Given the description of an element on the screen output the (x, y) to click on. 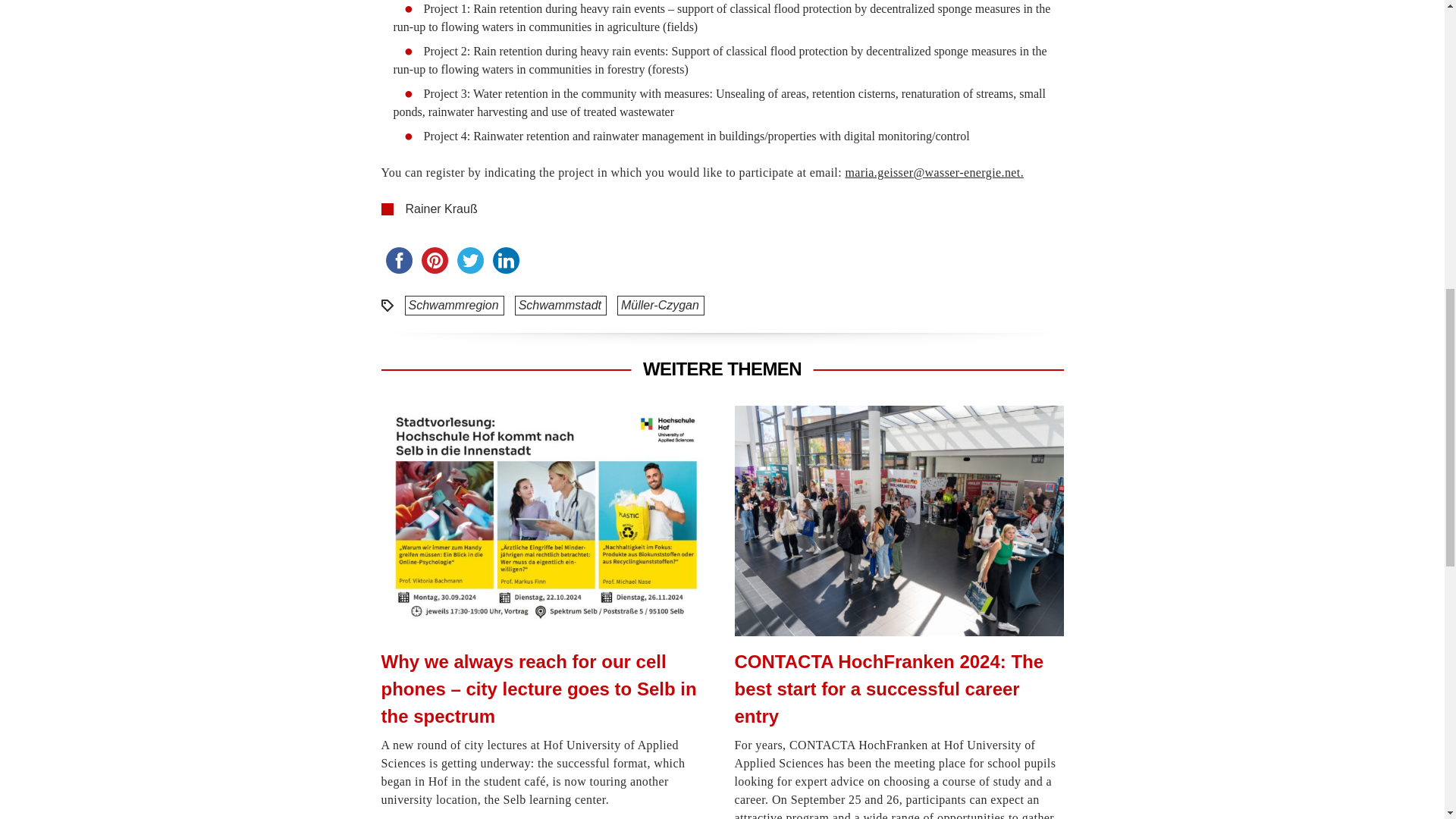
Schwammregion (453, 305)
linkedin (505, 260)
twitter (469, 260)
facebook (398, 260)
Schwammstadt (560, 305)
pinterest (434, 260)
